Given the description of an element on the screen output the (x, y) to click on. 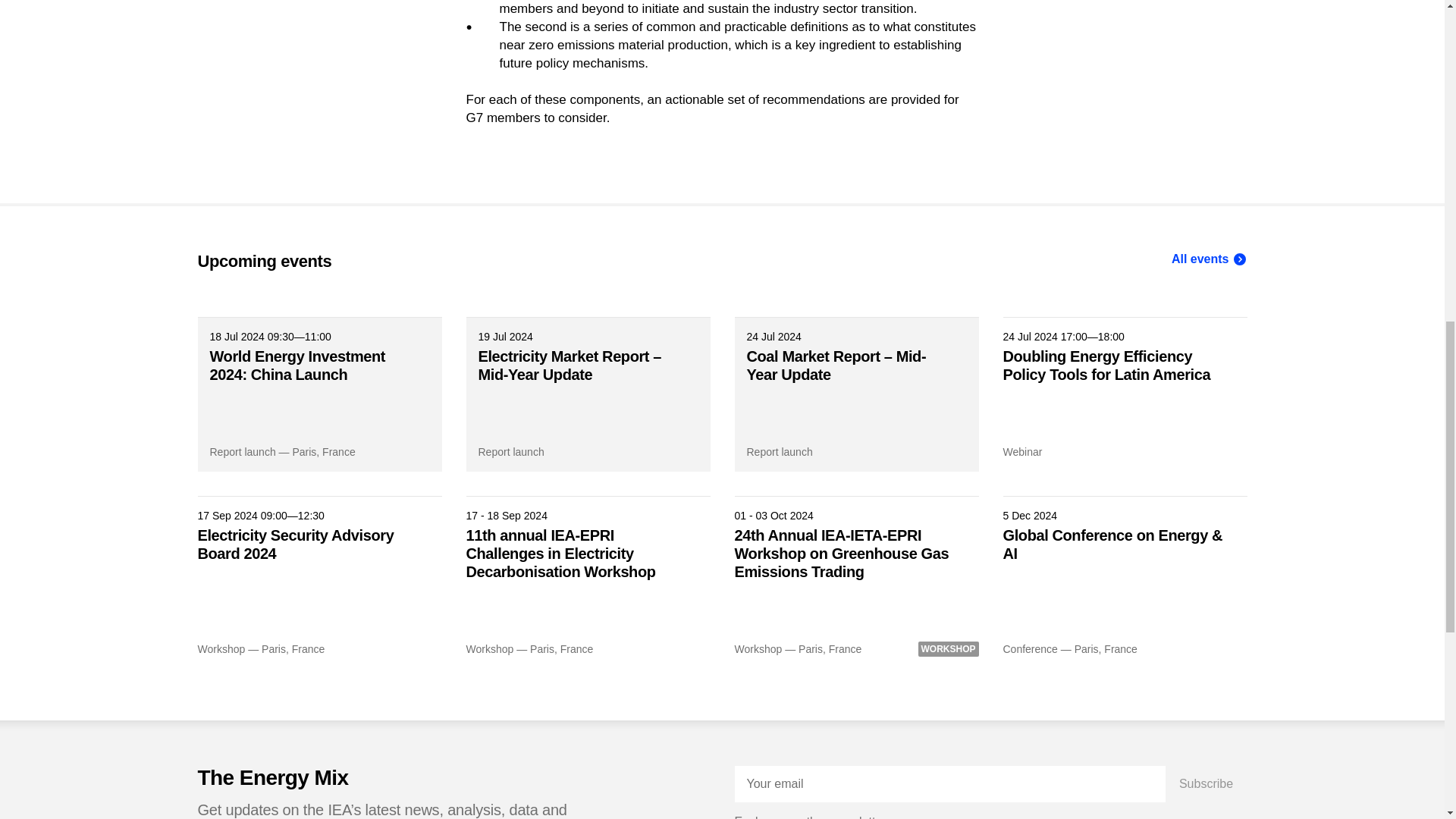
circle-arrow (1238, 258)
